Given the description of an element on the screen output the (x, y) to click on. 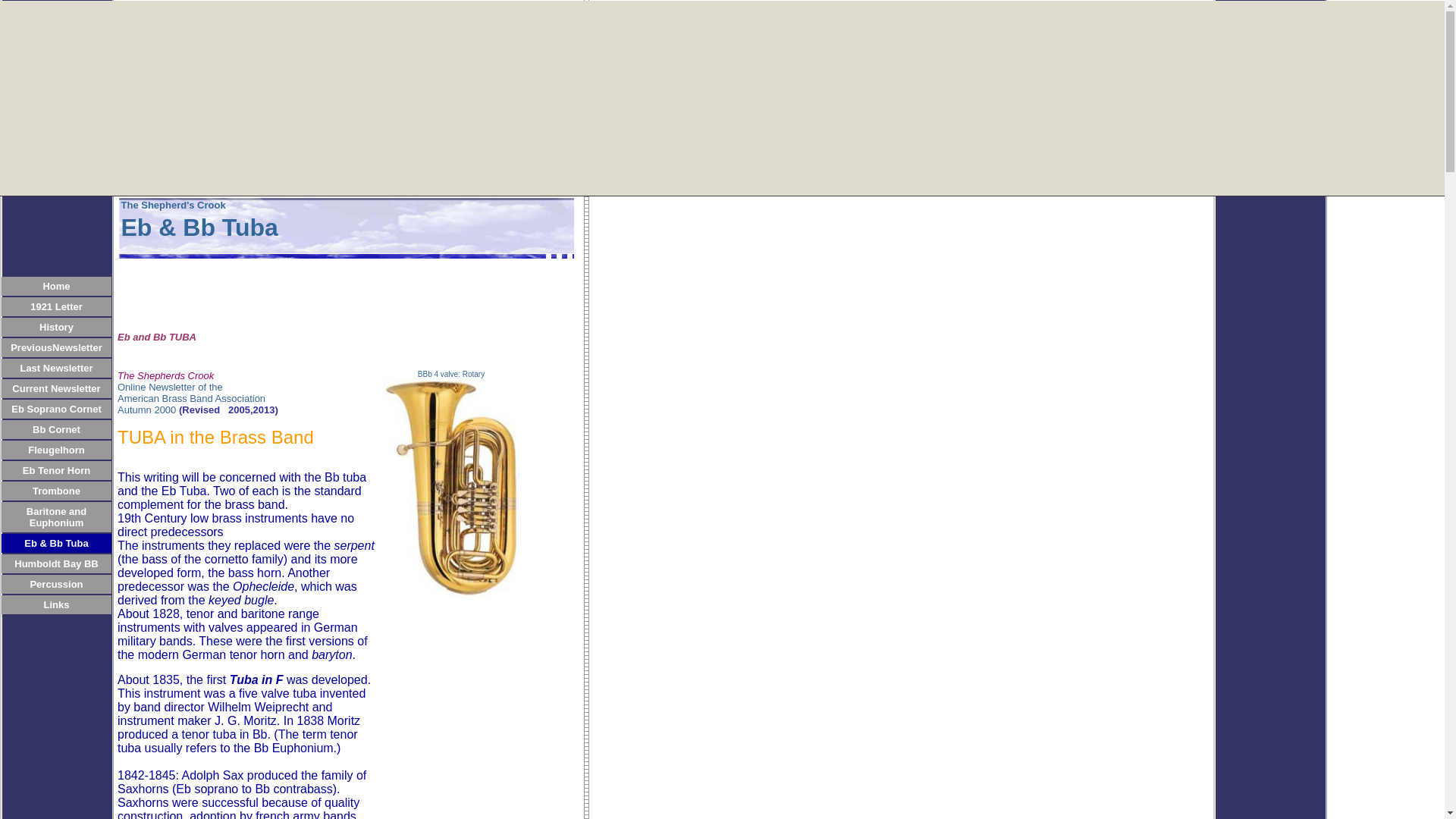
Last Newsletter (56, 367)
Baritone and Euphonium (55, 516)
Trombone (56, 490)
Humboldt Bay BB (56, 562)
Links (56, 603)
PreviousNewsletter (55, 346)
Eb Soprano Cornet (55, 408)
Fleugelhorn (55, 449)
Current Newsletter (55, 387)
History (56, 326)
